Given the description of an element on the screen output the (x, y) to click on. 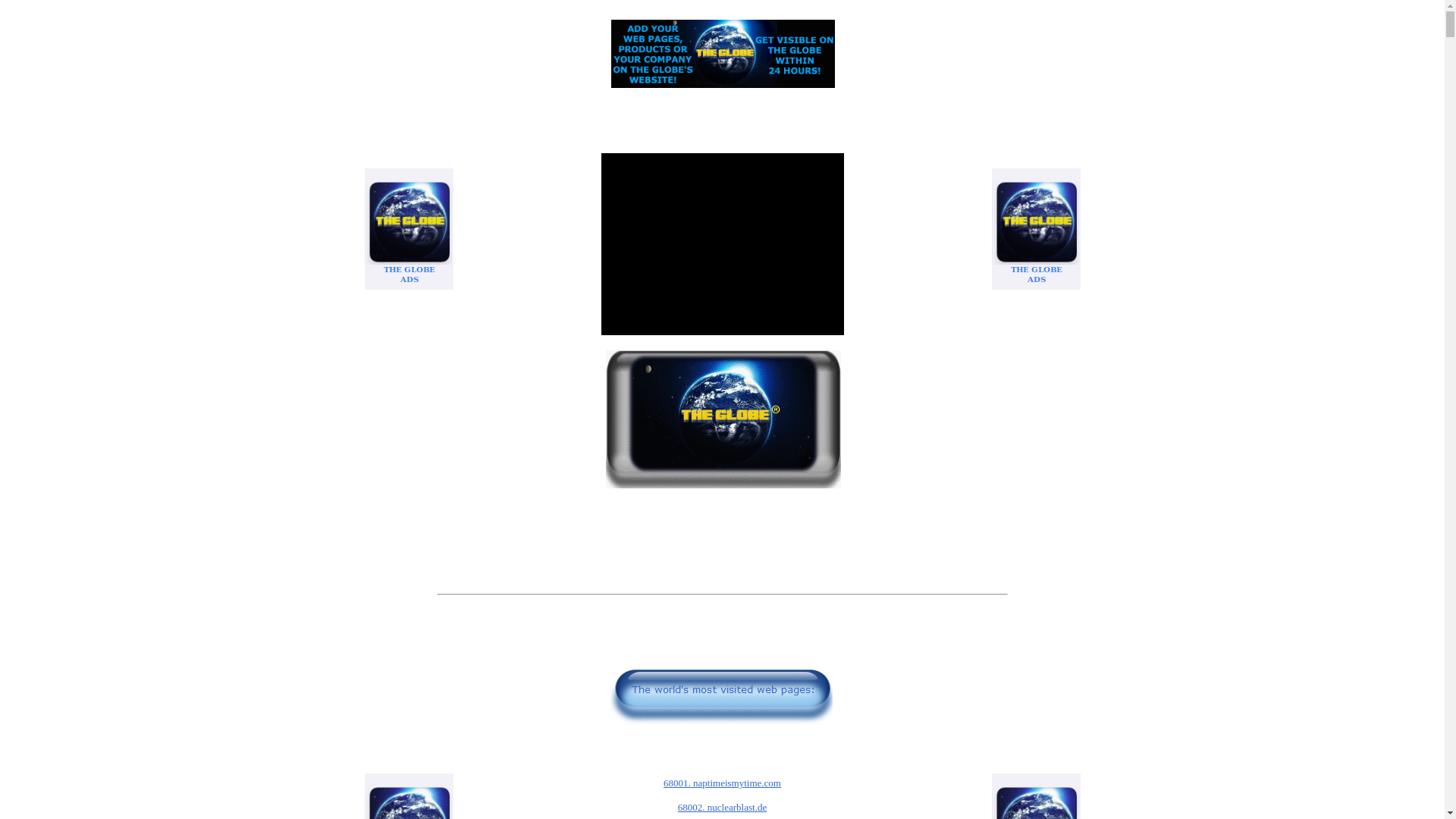
68002. nuclearblast.de Element type: text (721, 806)
68001. naptimeismytime.com Element type: text (722, 782)
The world's most visited web pages: Element type: text (721, 653)
